Given the description of an element on the screen output the (x, y) to click on. 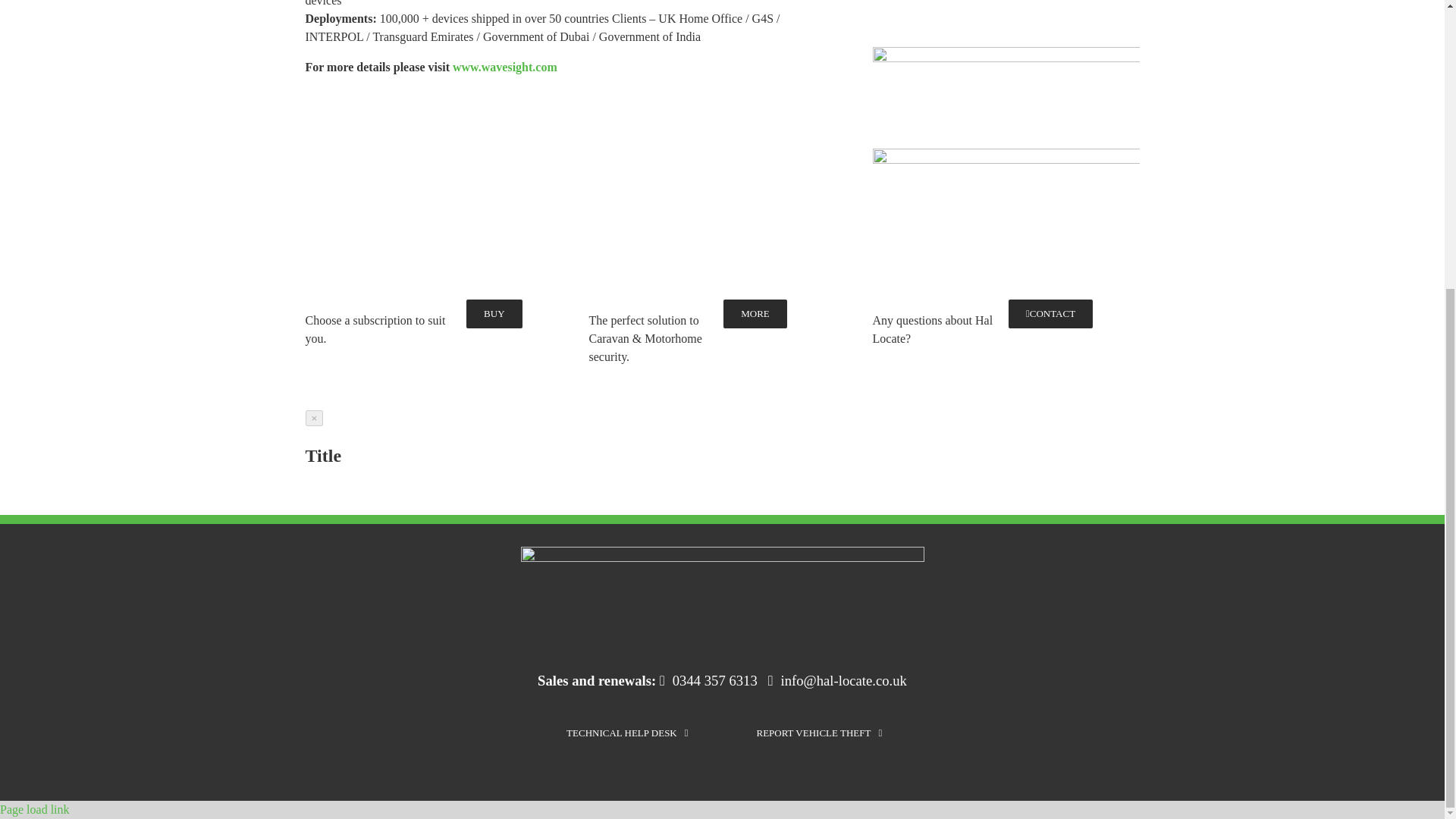
CONTACT (1051, 313)
Page load link (34, 809)
www.wavesight.com (504, 66)
BUY (493, 313)
TECHNICAL HELP DESK (626, 733)
REPORT VEHICLE THEFT (818, 733)
MORE (755, 313)
